Given the description of an element on the screen output the (x, y) to click on. 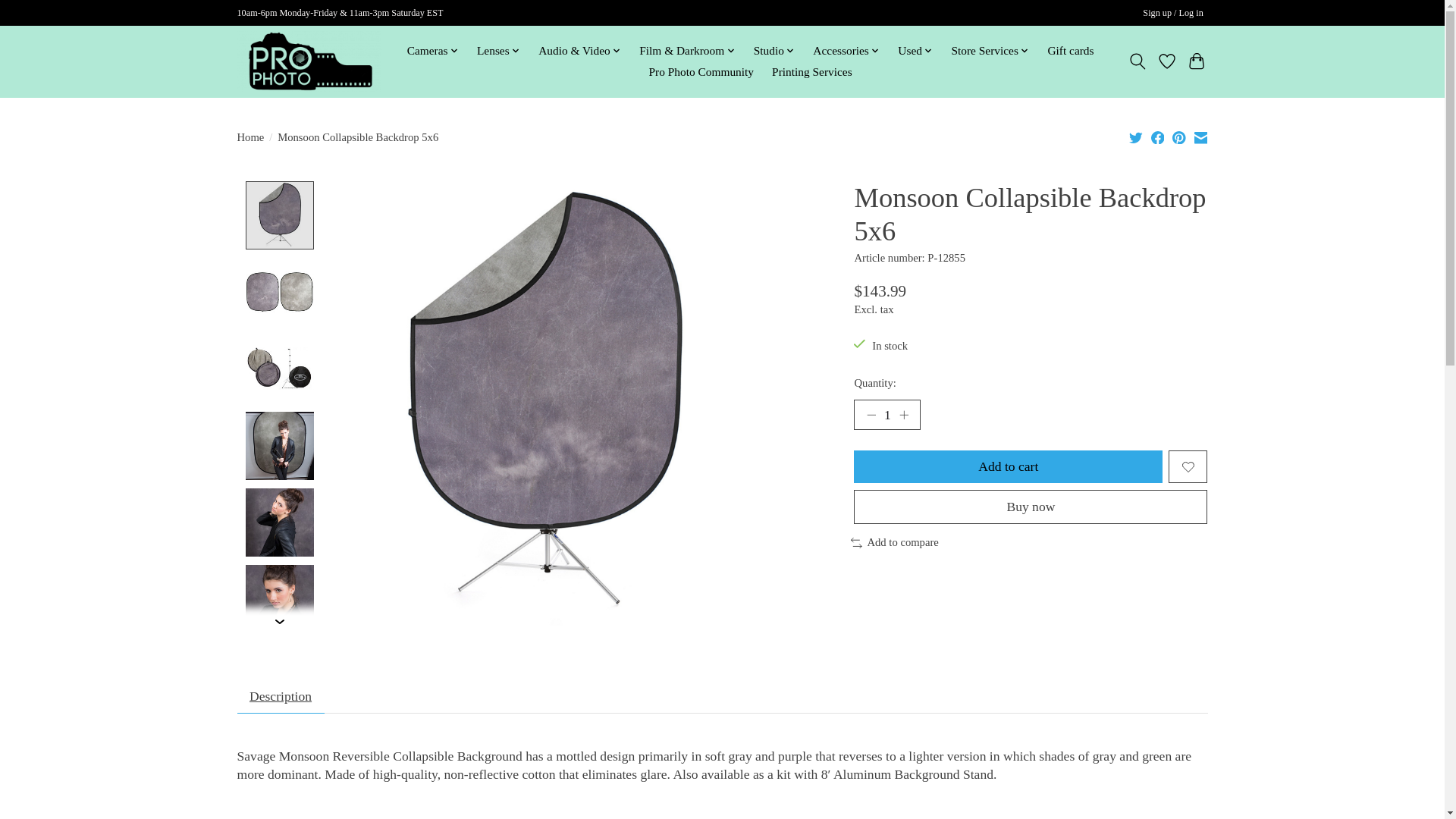
1 (886, 414)
Share on Pinterest (1178, 137)
Lenses (498, 51)
Share on Twitter (1135, 137)
Studio (773, 51)
Share by Email (1200, 137)
Cameras (432, 51)
Share on Facebook (1157, 137)
My account (1173, 13)
Pro Photo (307, 61)
